Given the description of an element on the screen output the (x, y) to click on. 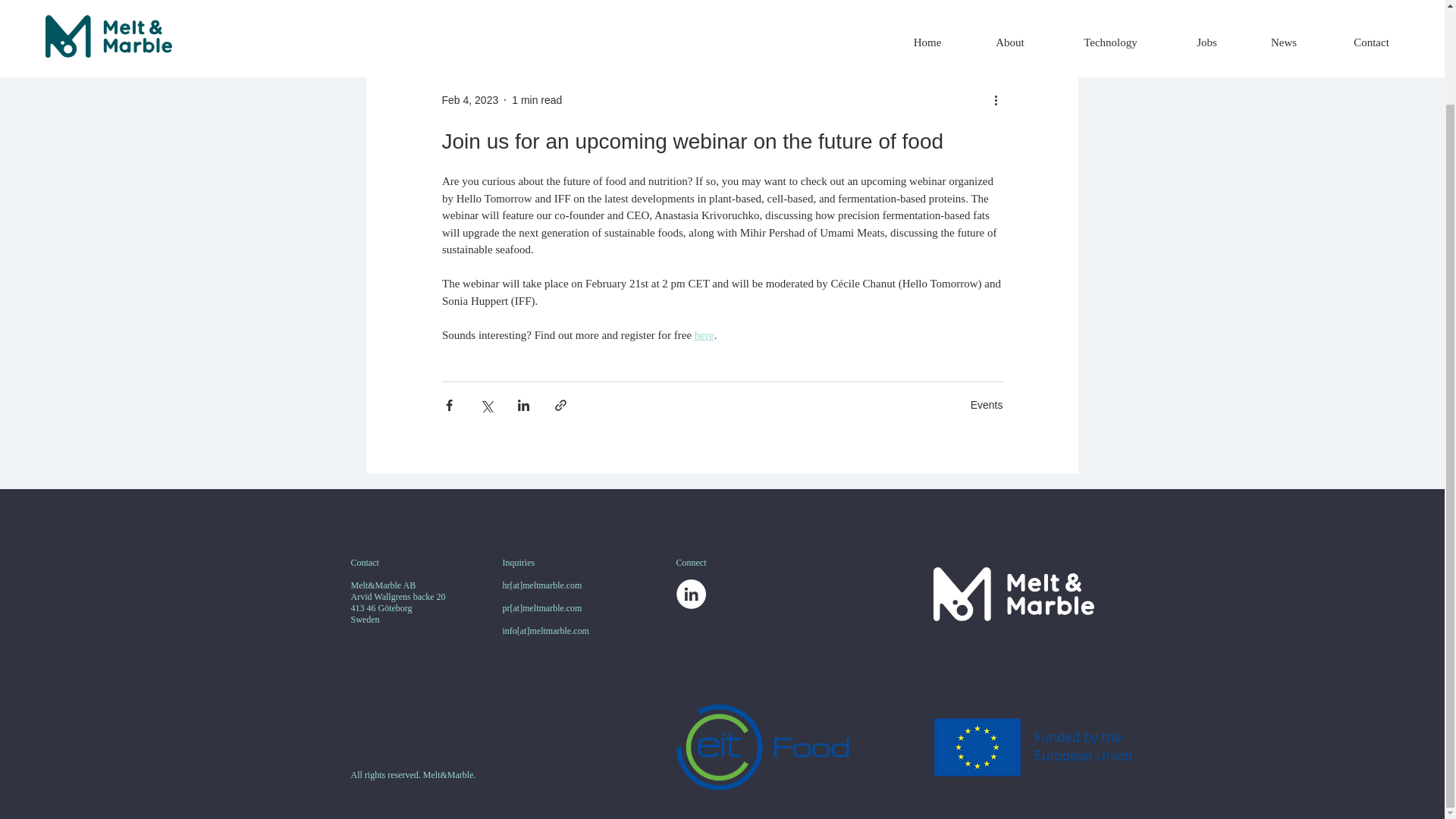
Feb 4, 2023 (469, 99)
EIT Logo.png (904, 747)
Blog Post (623, 2)
Press Release (828, 2)
Events (987, 404)
Scientific Advancements (955, 2)
News (691, 2)
here (703, 334)
Awards (552, 2)
Press (748, 2)
